Given the description of an element on the screen output the (x, y) to click on. 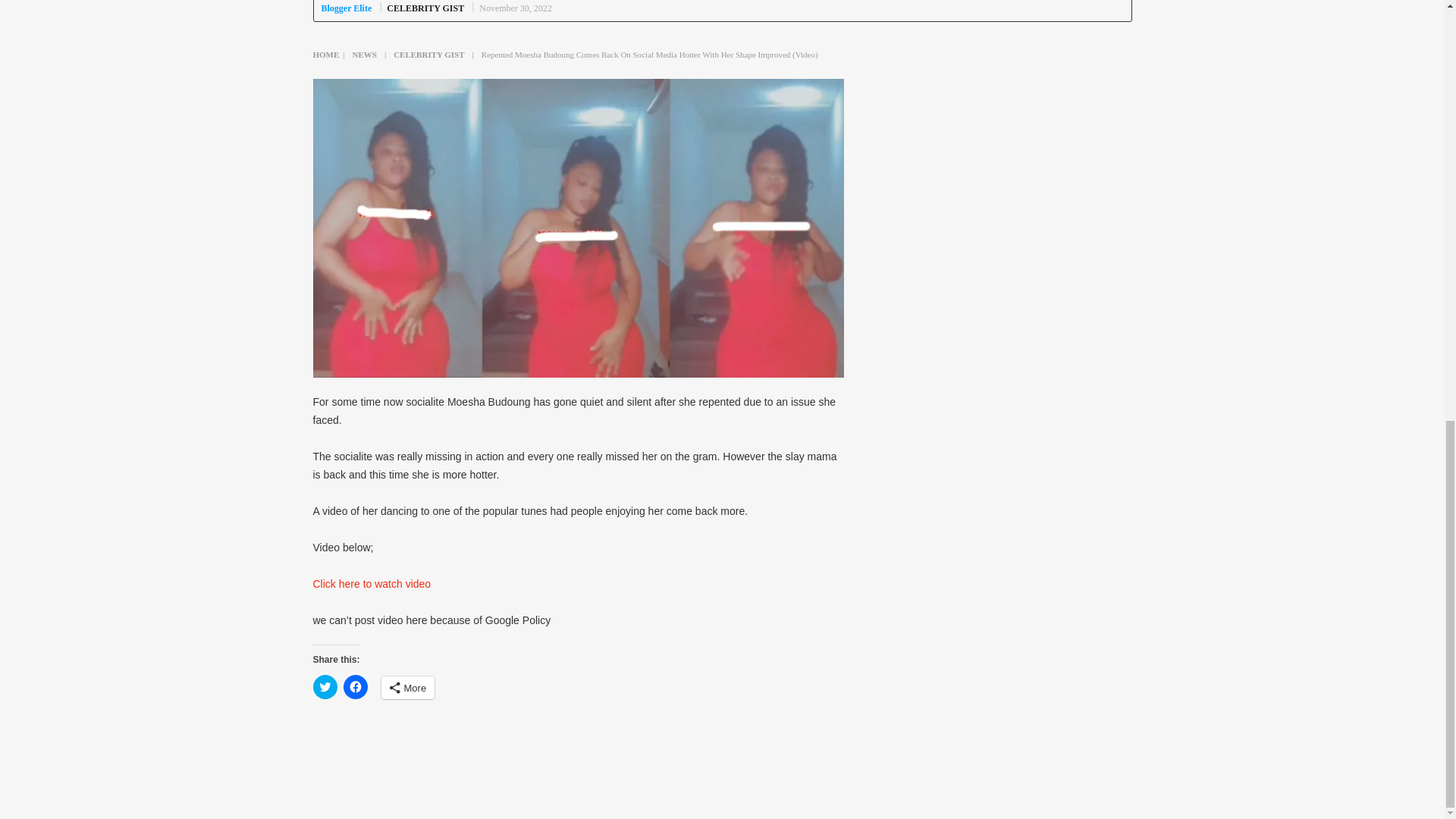
Click to share on Twitter (324, 686)
Blogger Elite (346, 8)
CELEBRITY GIST (425, 8)
Click to share on Facebook (354, 686)
HOME (326, 53)
Posts by Blogger Elite (346, 8)
NEWS (364, 53)
View all posts in CELEBRITY GIST (425, 8)
